Given the description of an element on the screen output the (x, y) to click on. 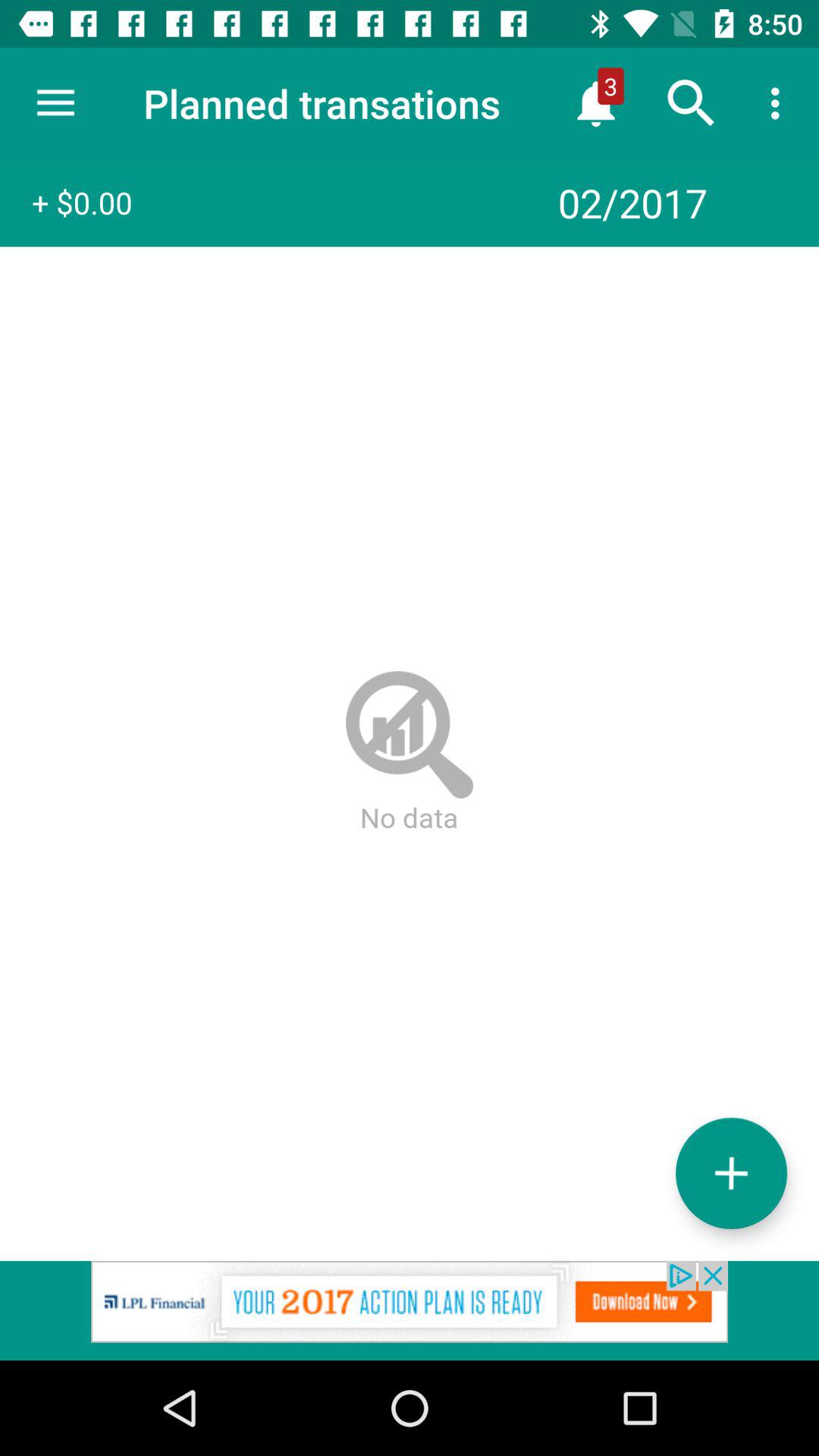
open this advertisement (409, 1310)
